Given the description of an element on the screen output the (x, y) to click on. 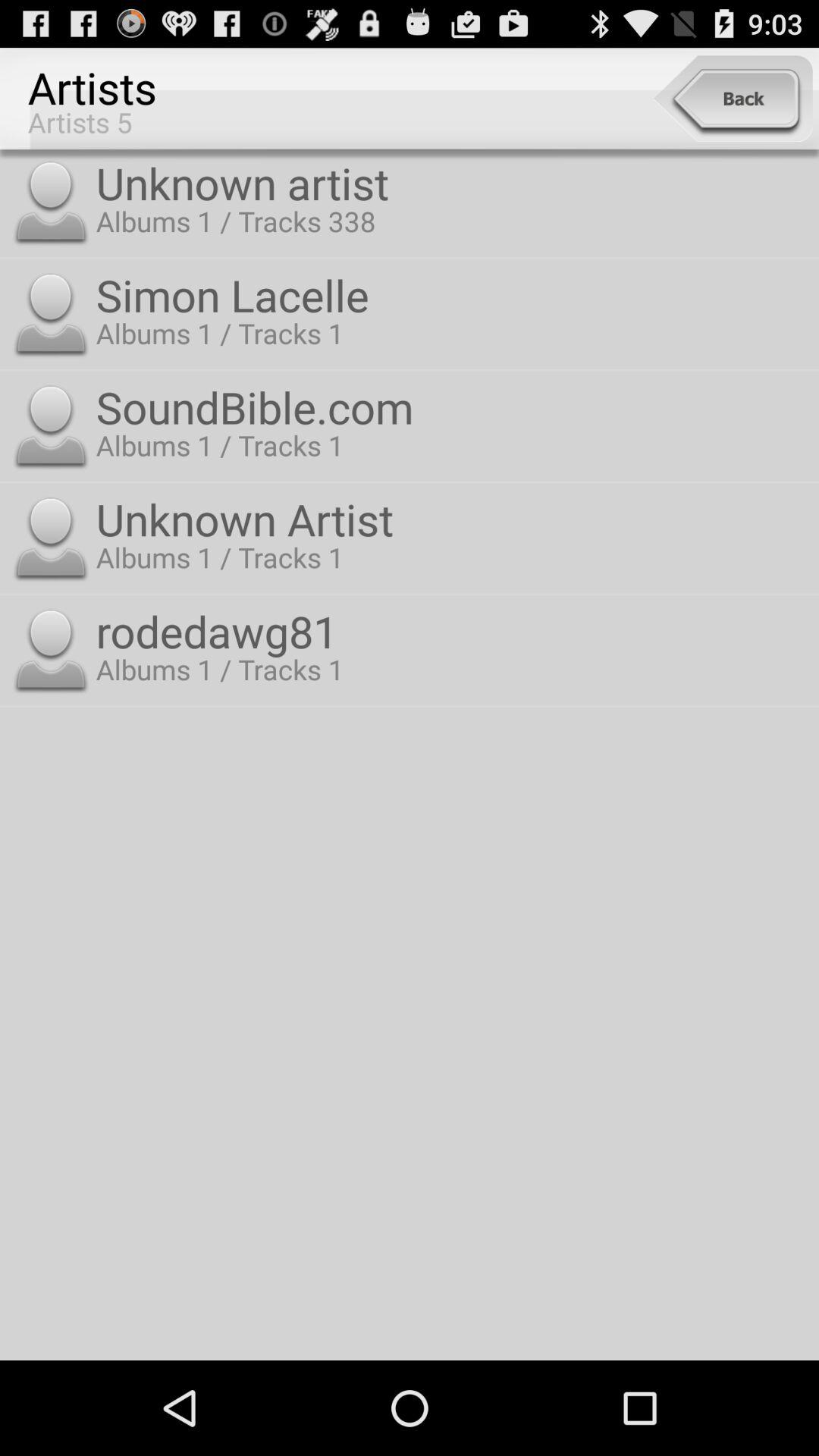
click the item to the right of the artists item (732, 98)
